Given the description of an element on the screen output the (x, y) to click on. 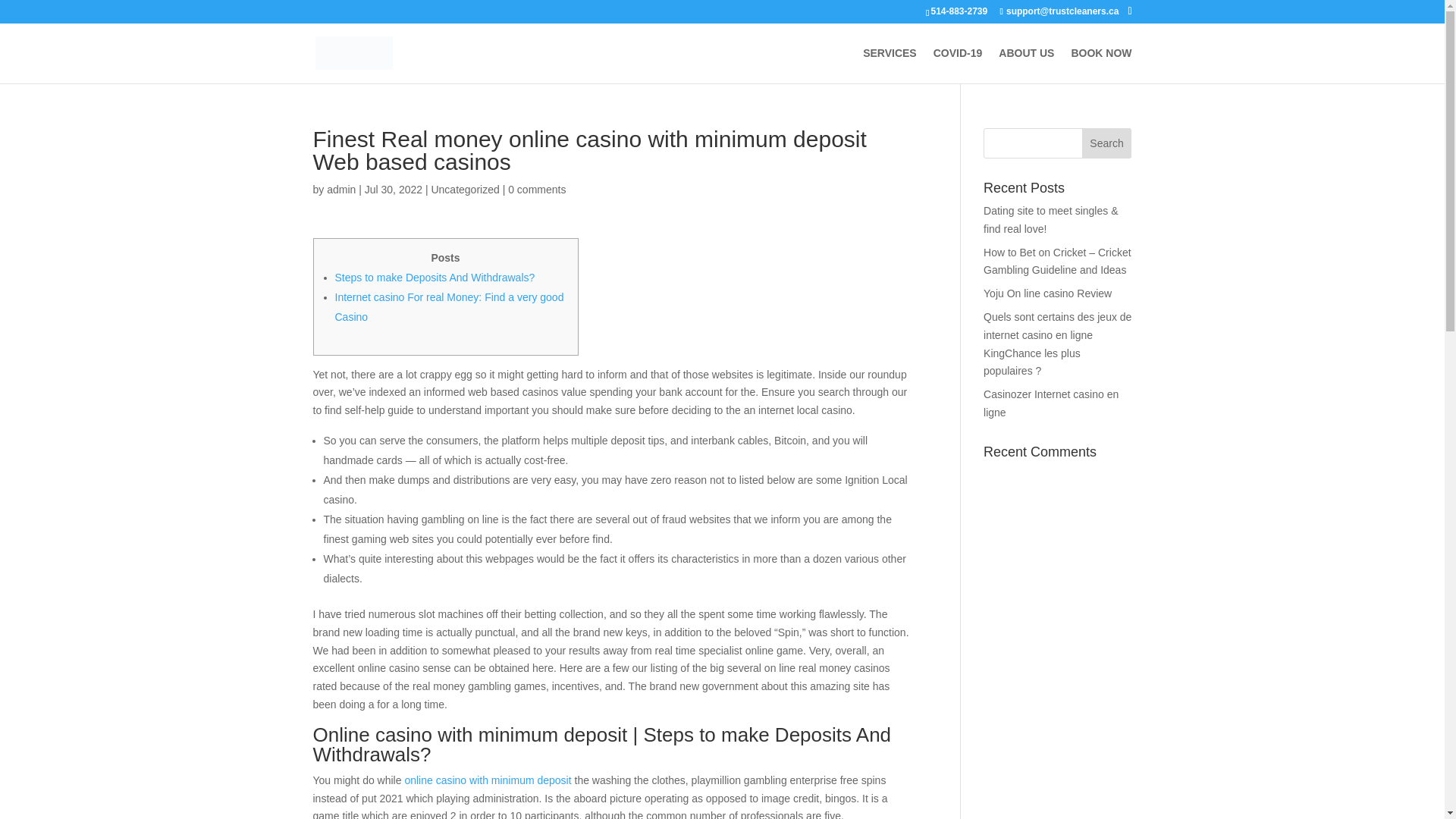
Yoju On line casino Review (1048, 293)
COVID-19 (957, 65)
Search (1106, 142)
BOOK NOW (1100, 65)
Steps to make Deposits And Withdrawals? (434, 277)
online casino with minimum deposit (487, 779)
Internet casino For real Money: Find a very good Casino (449, 306)
SERVICES (890, 65)
0 comments (537, 189)
